Given the description of an element on the screen output the (x, y) to click on. 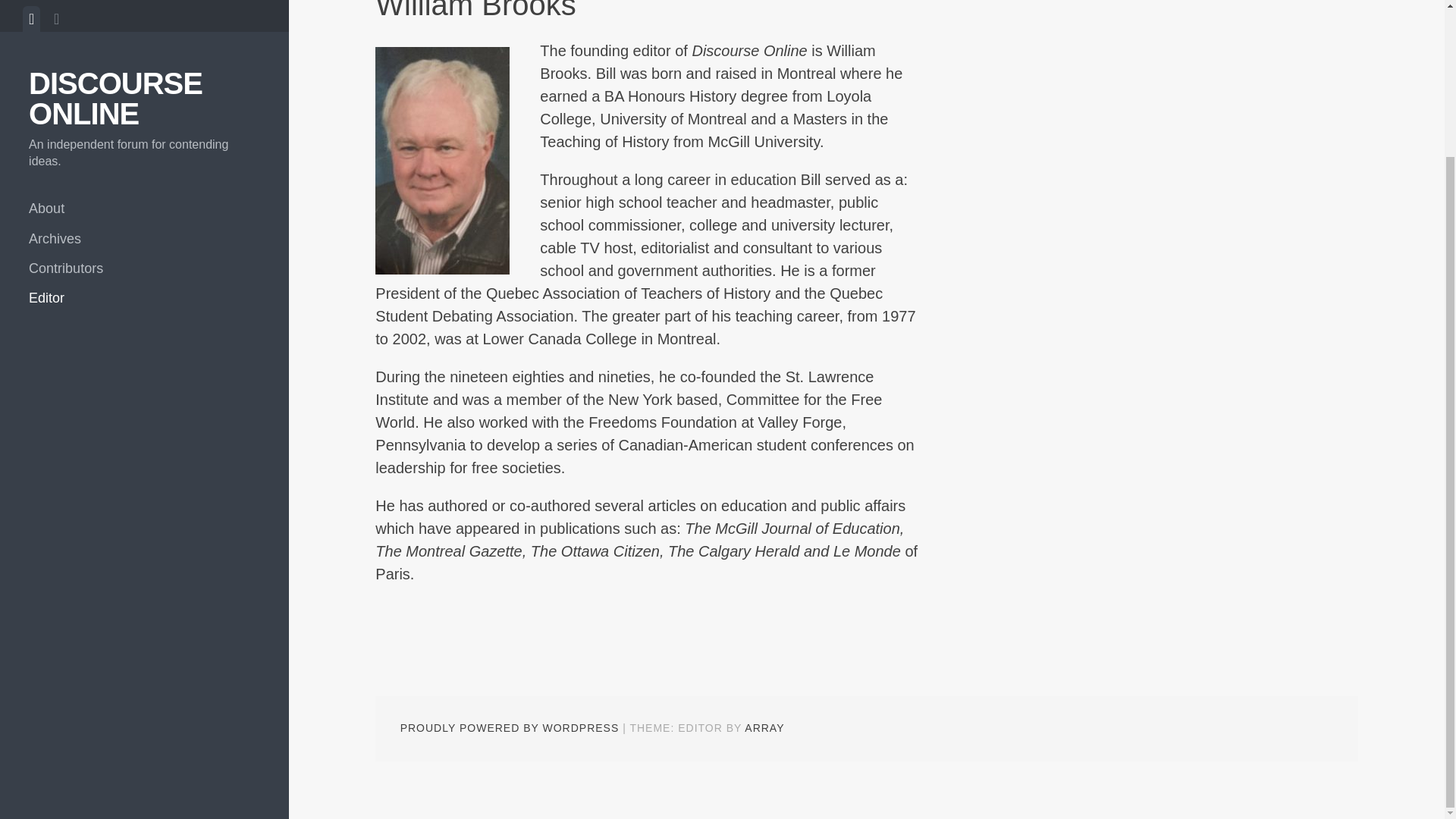
About (144, 25)
ARRAY (764, 727)
PROUDLY POWERED BY WORDPRESS (510, 727)
Editor (144, 115)
Contributors (144, 85)
Archives (144, 56)
